Given the description of an element on the screen output the (x, y) to click on. 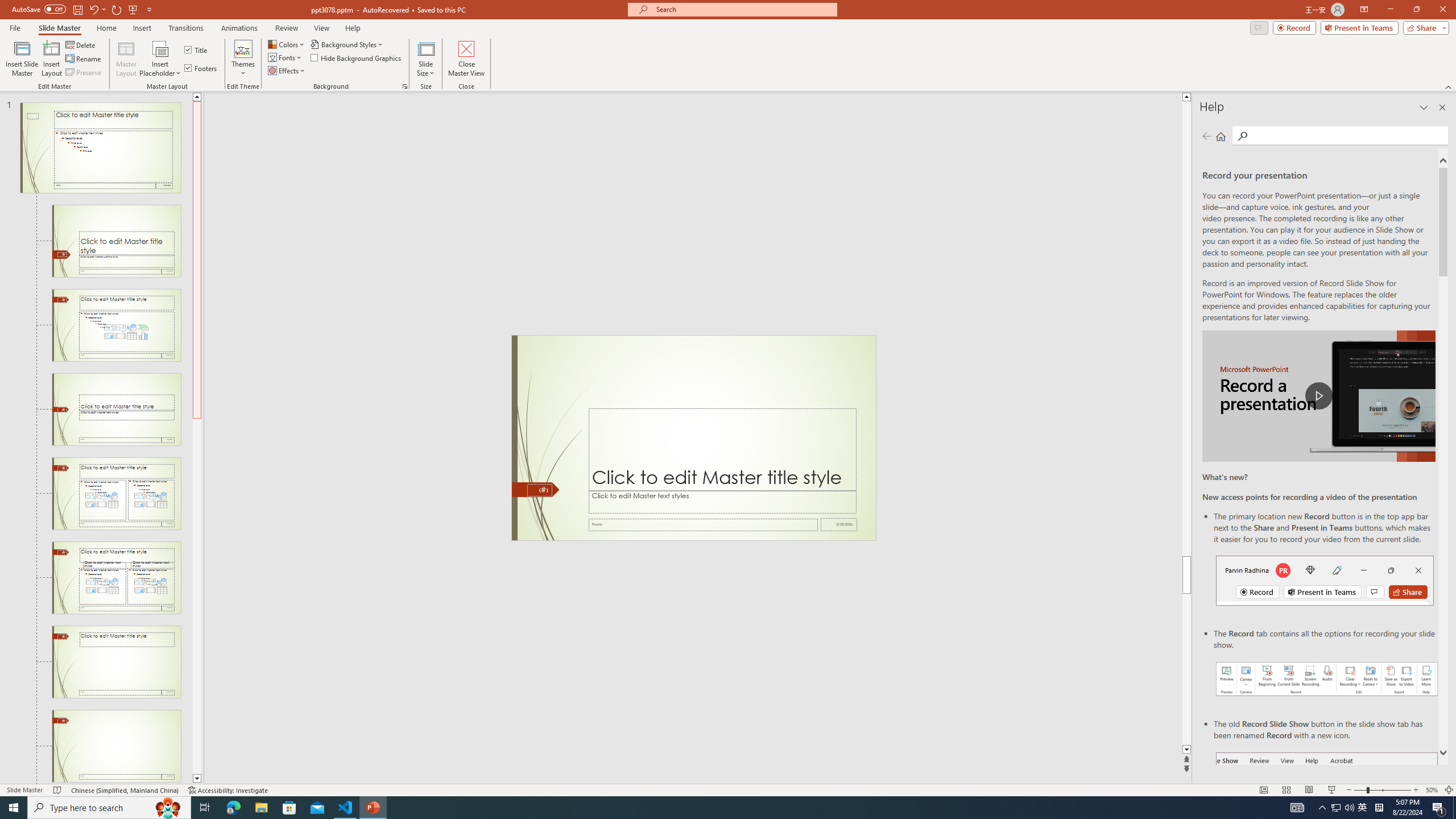
play Record a Presentation (1318, 395)
Title (196, 49)
Format Background... (404, 85)
Themes (243, 58)
Freeform 11 (535, 489)
Task Pane Options (1423, 107)
Slide Title Only Layout: used by no slides (116, 661)
Colors (287, 44)
Zoom 50% (1431, 790)
Slide Two Content Layout: used by no slides (116, 493)
Previous page (1206, 136)
